Given the description of an element on the screen output the (x, y) to click on. 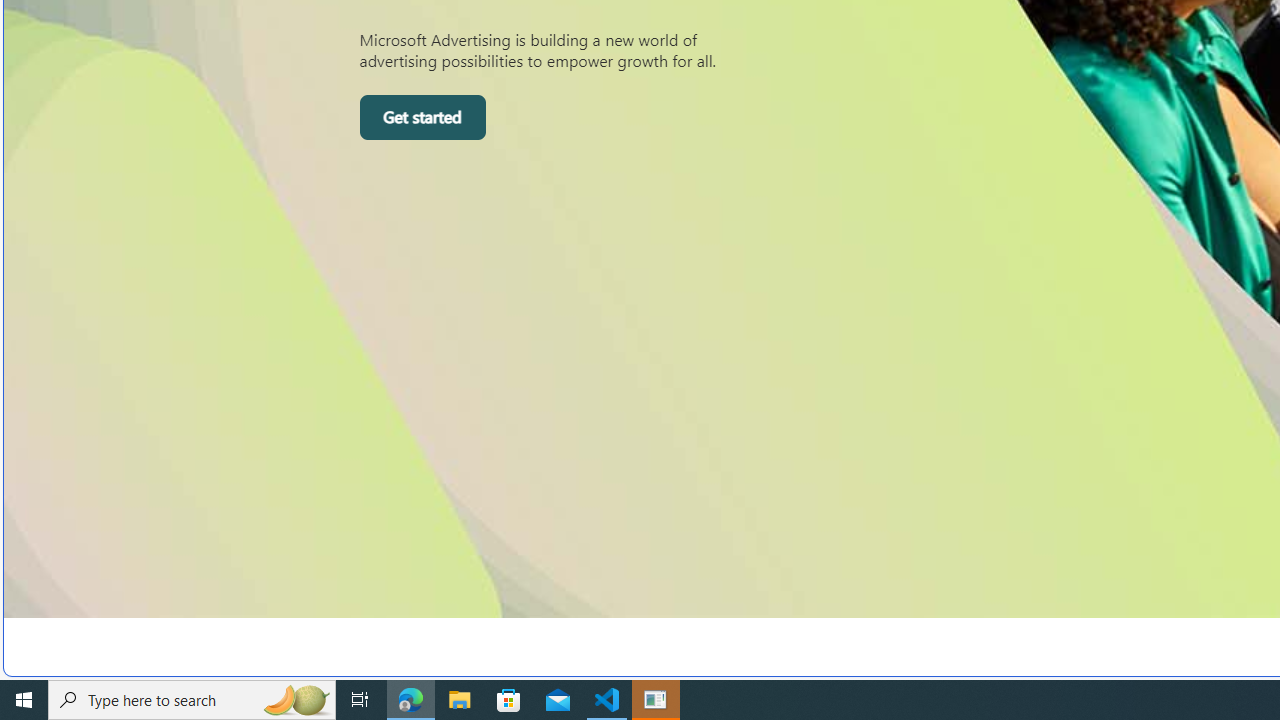
Get started (422, 118)
